Given the description of an element on the screen output the (x, y) to click on. 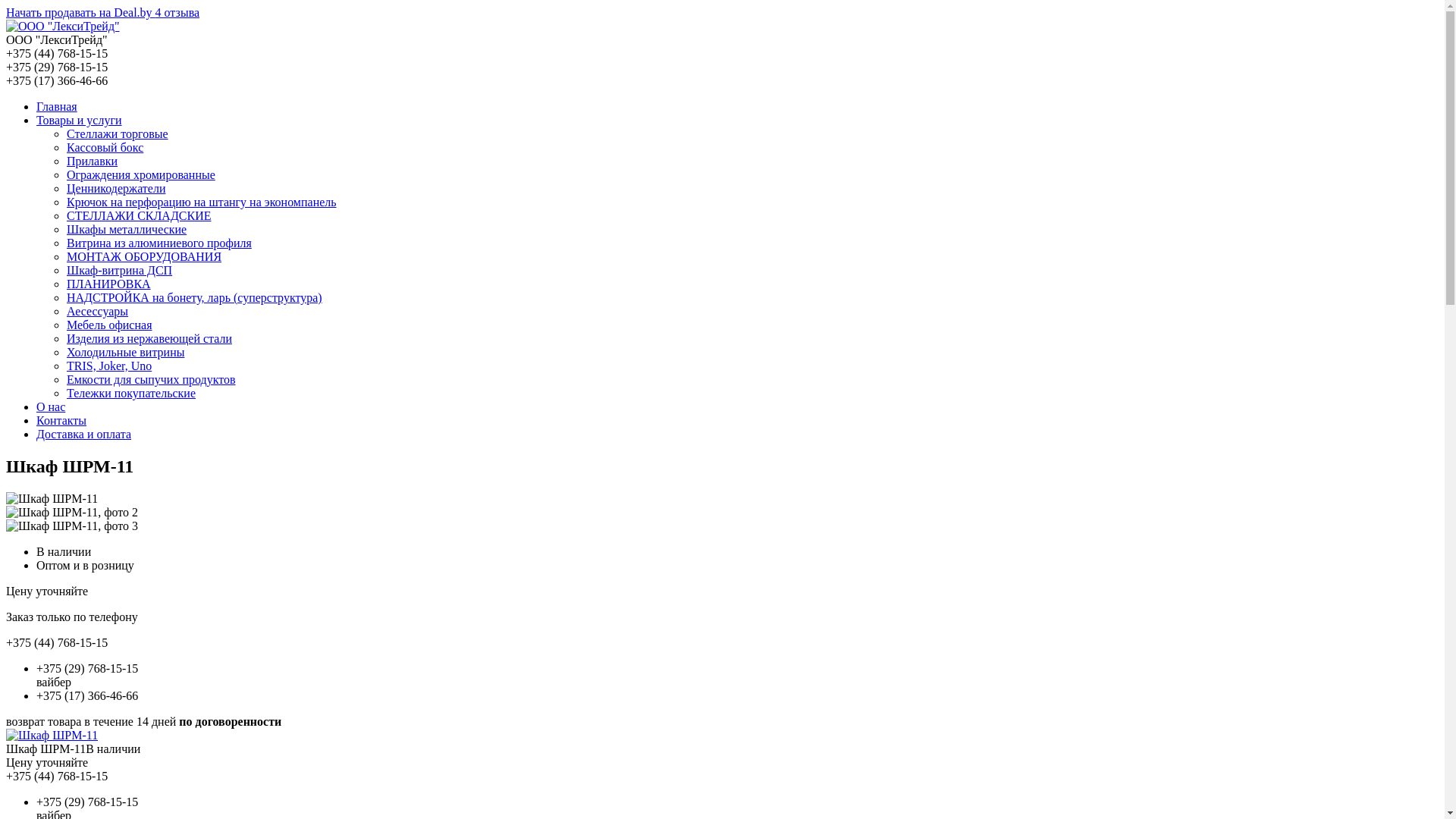
TRIS, Joker, Uno Element type: text (108, 365)
